Given the description of an element on the screen output the (x, y) to click on. 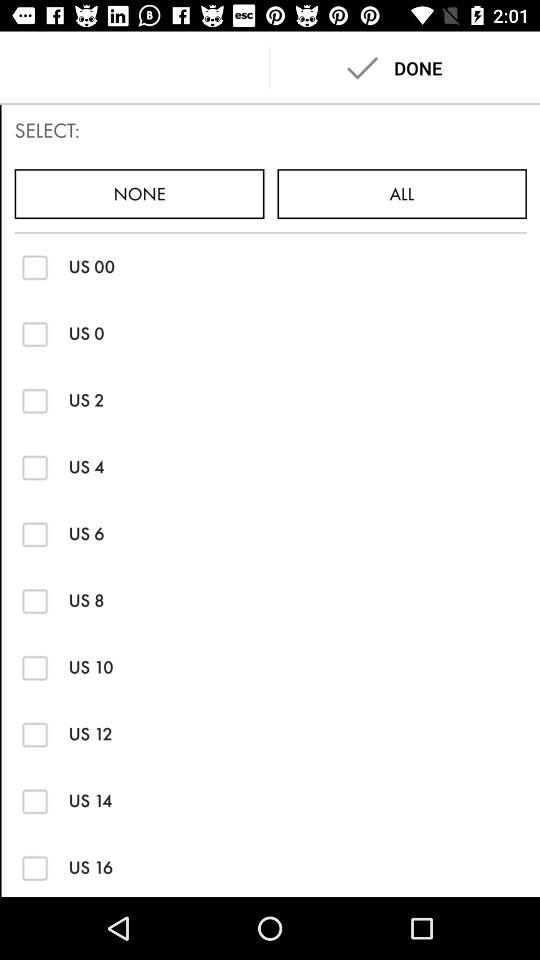
check the box next to us 2 (34, 400)
